Given the description of an element on the screen output the (x, y) to click on. 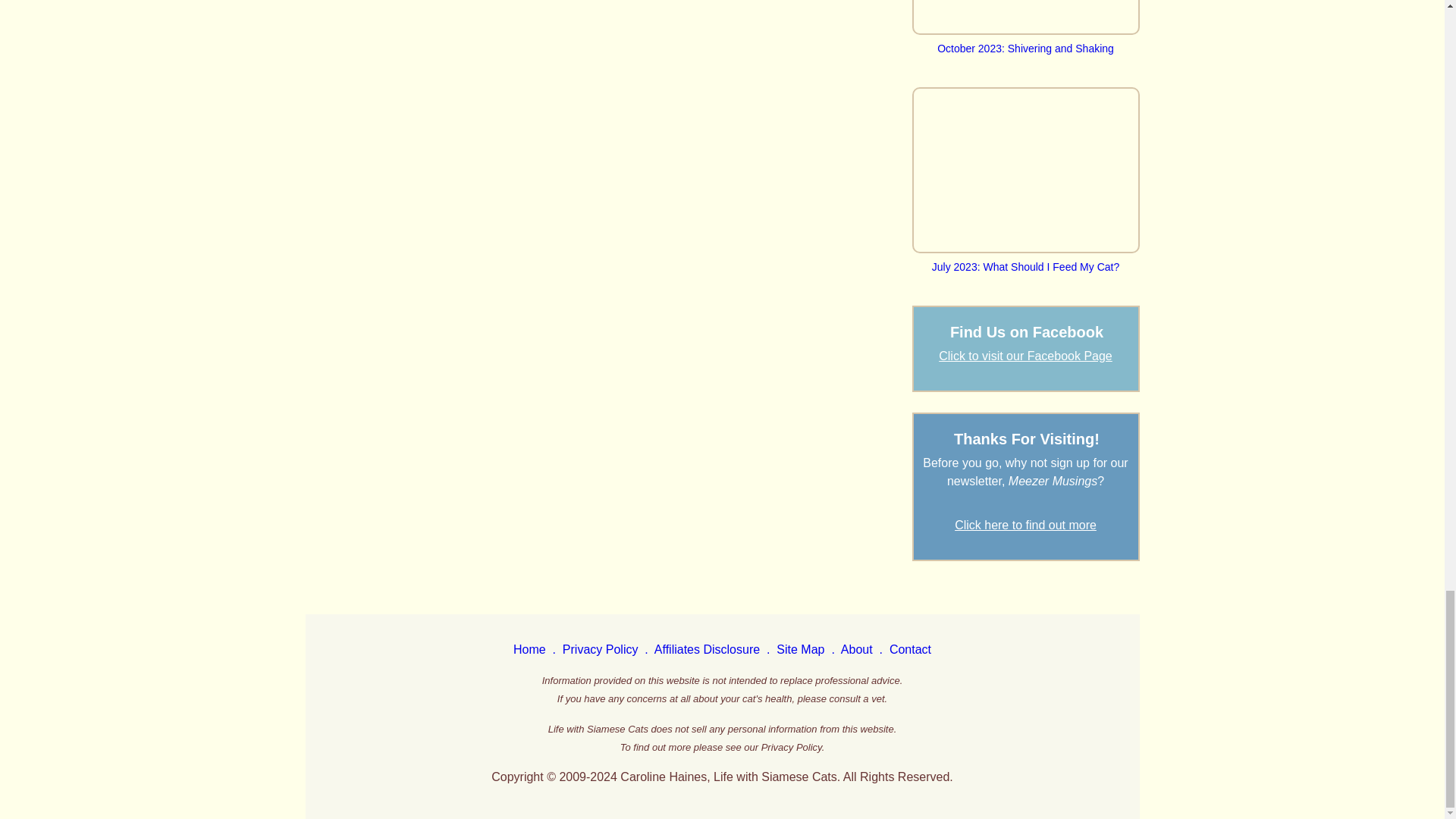
Go to Meezer Musings: October 2023 (1024, 41)
Click to visit our Facebook Page (1025, 355)
What Should I Feed My Cat? (1024, 169)
Go to Meezer Musings: July 2023 (1024, 259)
October 2023: Shivering and Shaking (1024, 41)
Meezer Musings: October 2023 (1024, 17)
July 2023: What Should I Feed My Cat? (1024, 259)
